Given the description of an element on the screen output the (x, y) to click on. 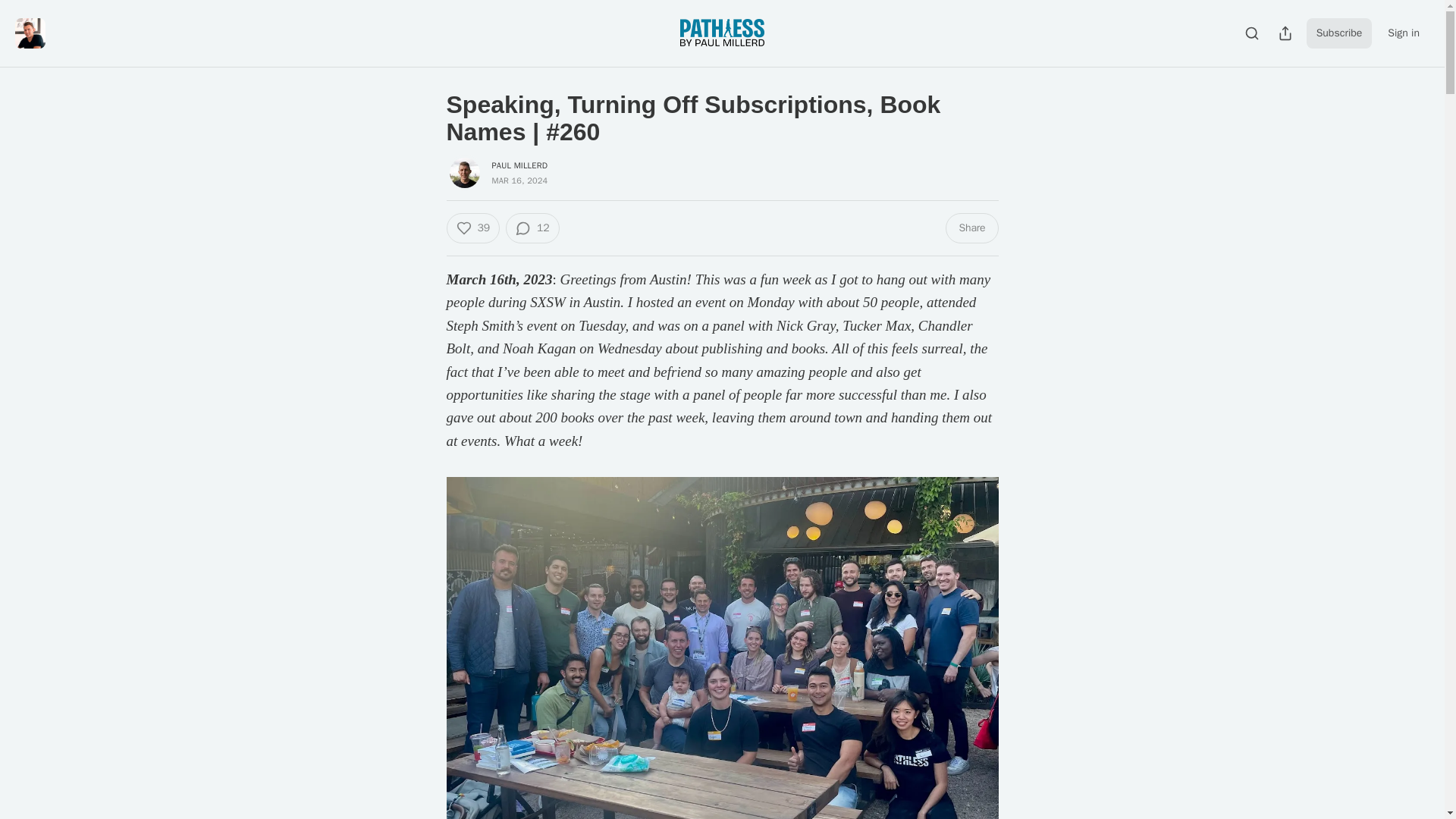
PAUL MILLERD (519, 164)
39 (472, 227)
Share (970, 227)
Sign in (1403, 33)
12 (532, 227)
Subscribe (1339, 33)
